Given the description of an element on the screen output the (x, y) to click on. 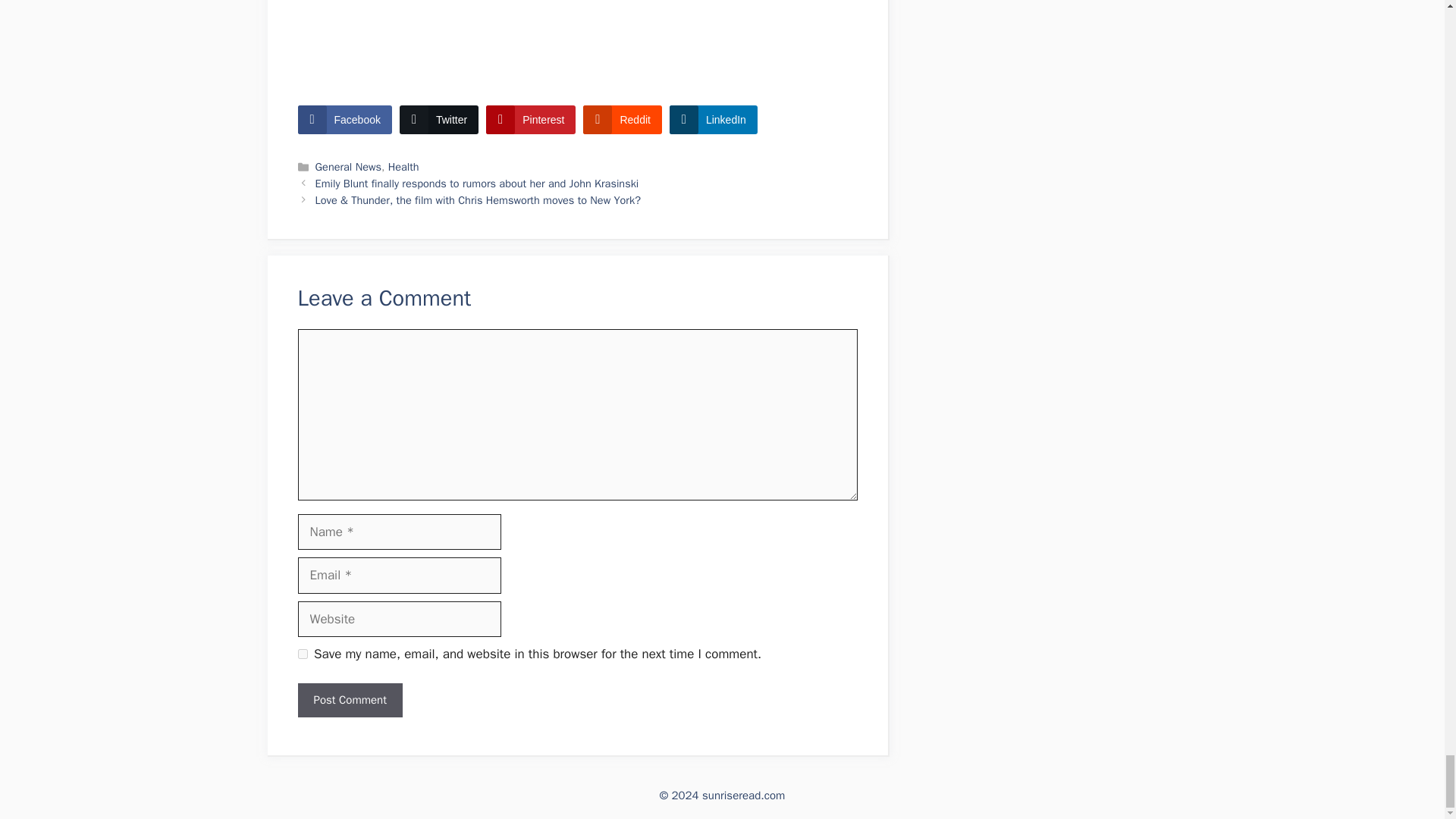
Post Comment (349, 700)
Twitter (438, 119)
yes (302, 654)
Facebook (344, 119)
Pinterest (530, 119)
LinkedIn (713, 119)
General News (348, 166)
Reddit (622, 119)
Post Comment (349, 700)
Health (403, 166)
